Given the description of an element on the screen output the (x, y) to click on. 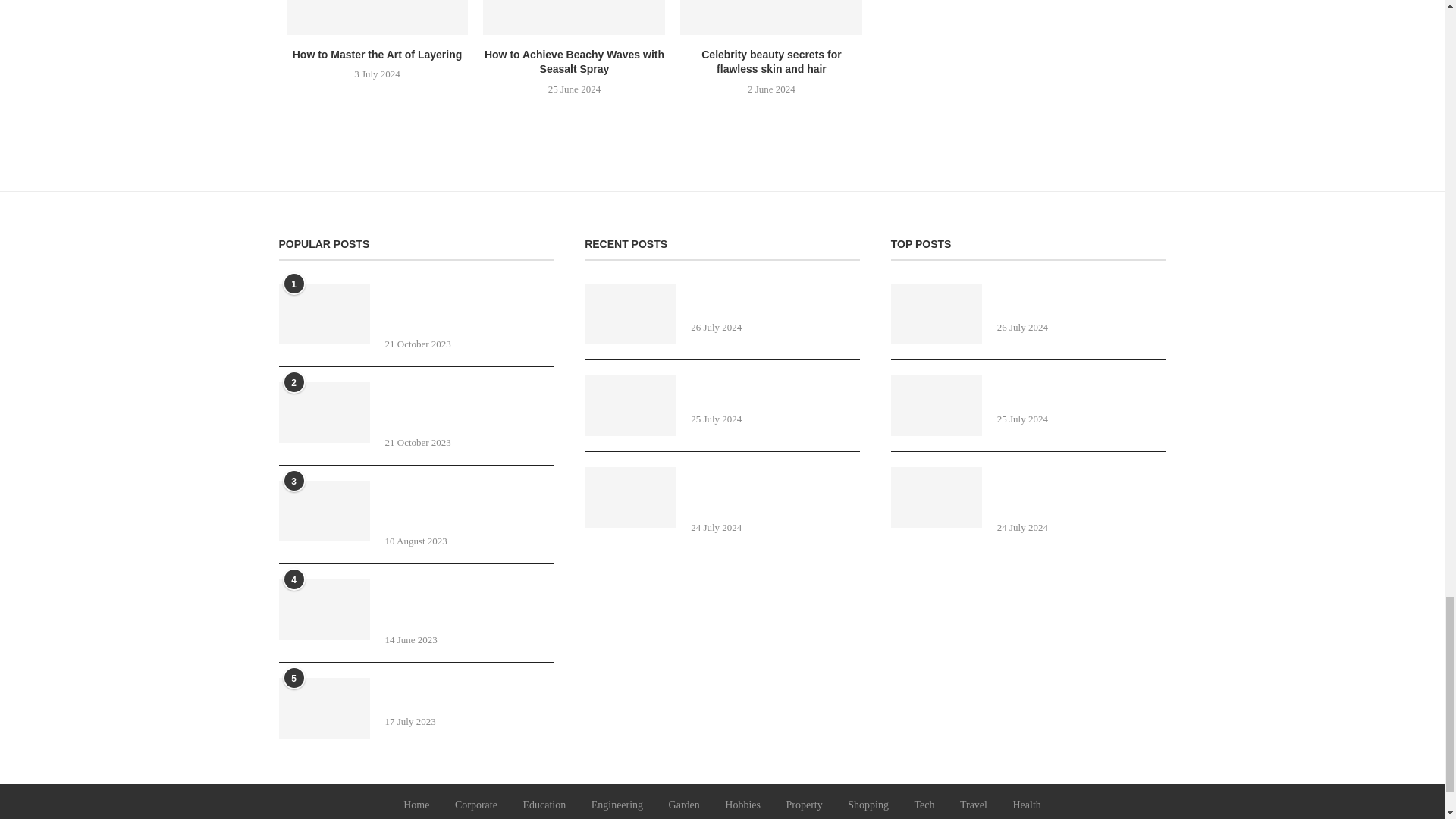
Celebrity beauty secrets for flawless skin and hair (770, 17)
How to Master the Art of Layering (377, 17)
How to Achieve Beachy Waves with Seasalt Spray (574, 17)
